Given the description of an element on the screen output the (x, y) to click on. 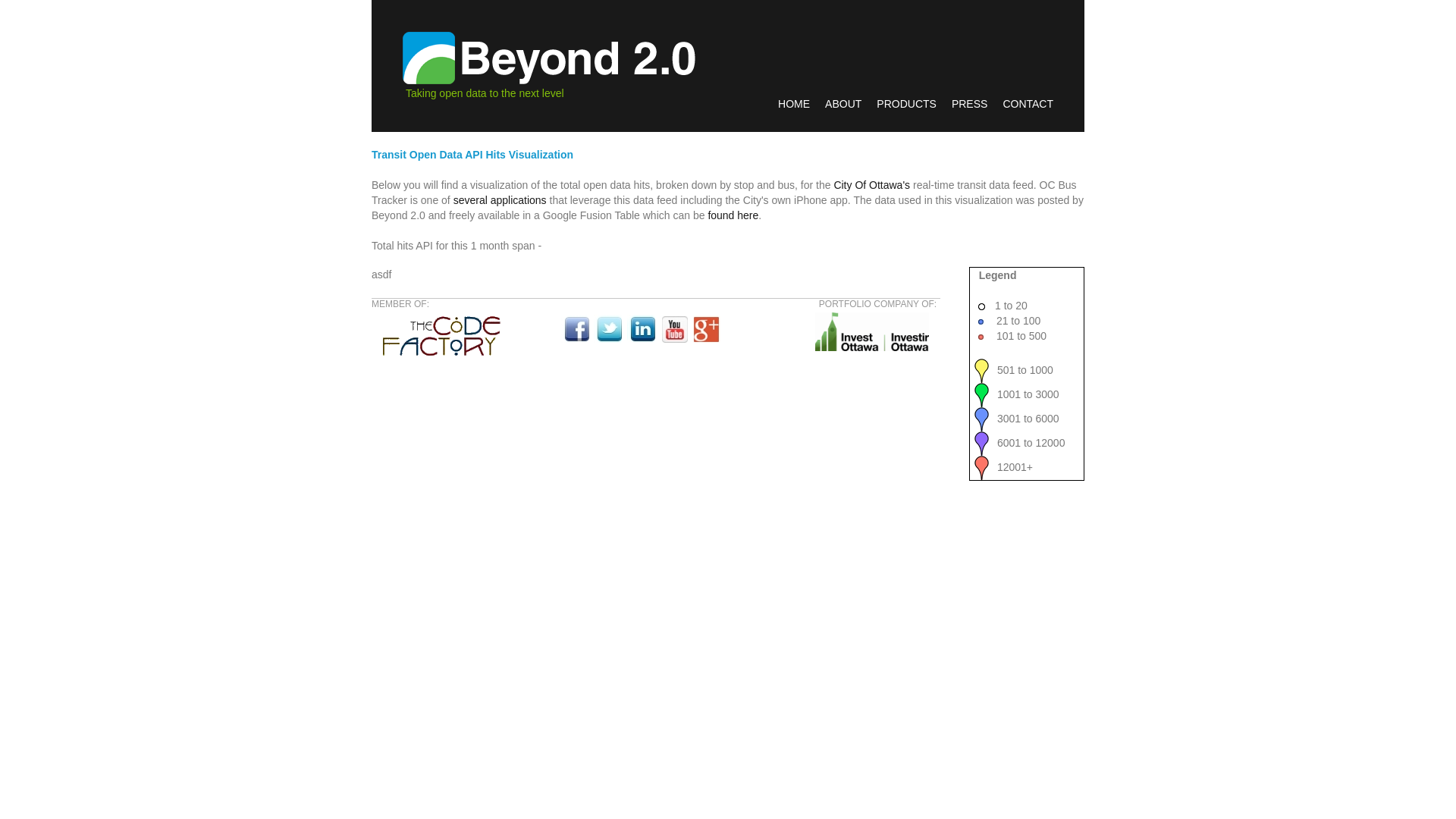
found here Element type: text (732, 215)
ABOUT Element type: text (843, 103)
CONTACT Element type: text (1027, 103)
PRODUCTS Element type: text (906, 103)
PRESS Element type: text (969, 103)
City Of Ottawa's Element type: text (871, 184)
several applications Element type: text (499, 200)
HOME Element type: text (793, 103)
